Given the description of an element on the screen output the (x, y) to click on. 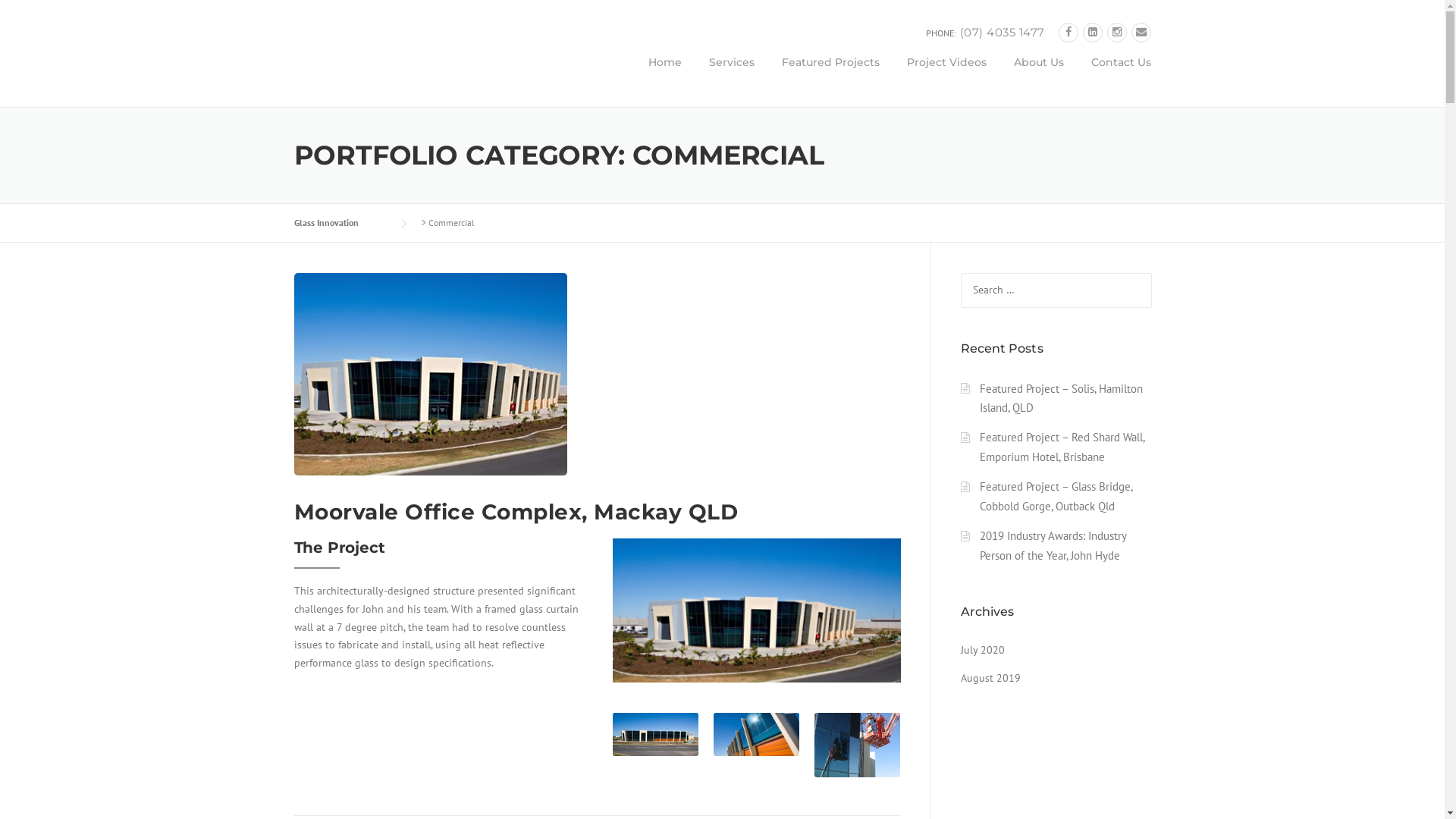
Glass Innovation Element type: hover (431, 58)
morevale_001 Element type: hover (756, 610)
Services Element type: text (730, 73)
Linkedin Element type: hover (1092, 31)
(07) 4035 1477 Element type: text (1002, 32)
Search Element type: text (36, 17)
About Us Element type: text (1037, 73)
Project Videos Element type: text (946, 73)
Contact Us Element type: text (1113, 73)
Instagram Element type: hover (1116, 31)
Featured Projects Element type: text (829, 73)
Moorvale Office Complex, Mackay QLD Element type: text (516, 511)
Home Element type: text (663, 73)
July 2020 Element type: text (982, 649)
Glass Innovation Element type: text (341, 222)
August 2019 Element type: text (989, 677)
Facebook Element type: hover (1068, 31)
Email Element type: hover (1141, 31)
2019 Industry Awards: Industry Person of the Year, John Hyde Element type: text (1052, 545)
